Given the description of an element on the screen output the (x, y) to click on. 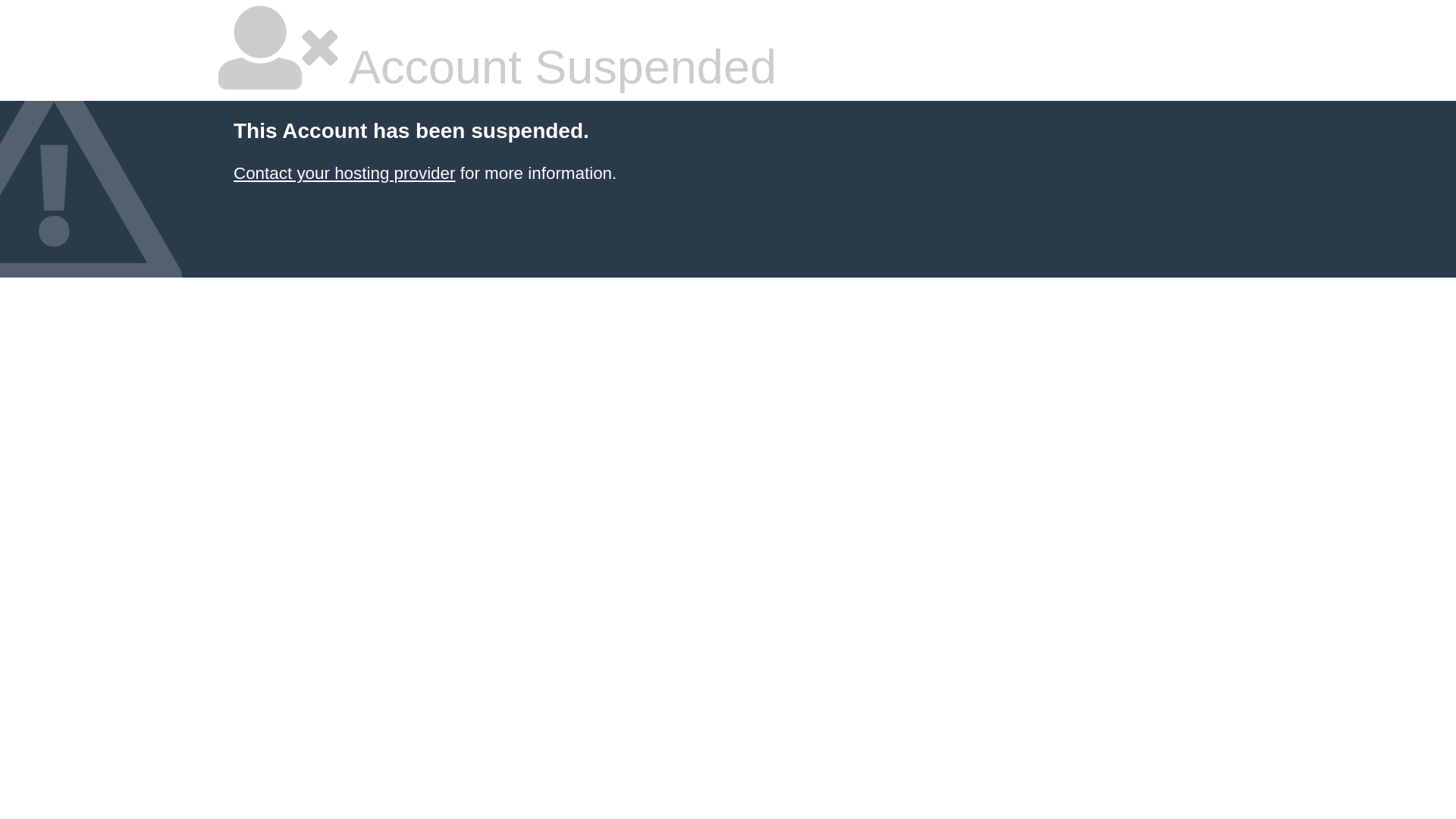
Contact your hosting provider Element type: text (344, 172)
